Given the description of an element on the screen output the (x, y) to click on. 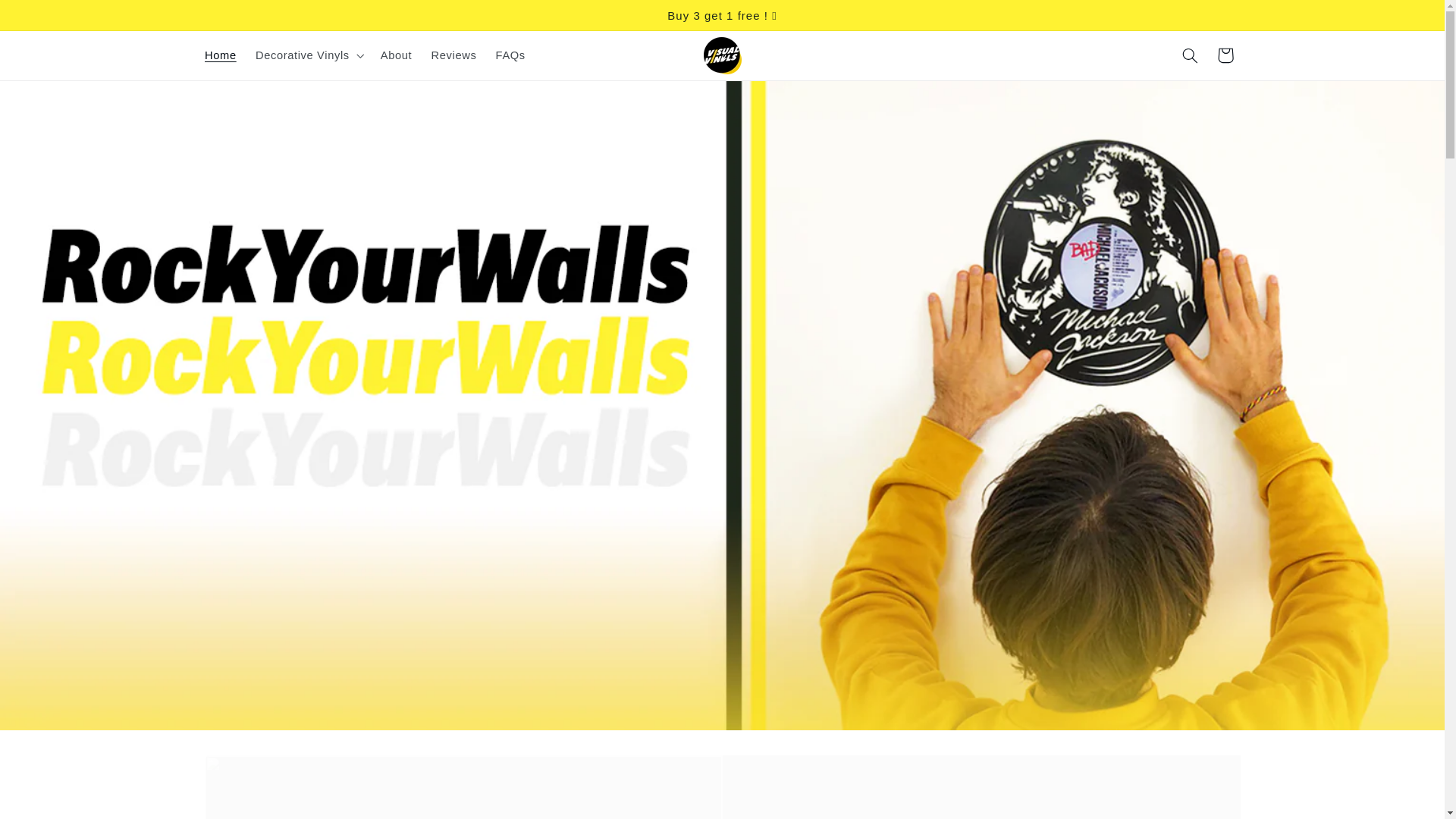
About (396, 55)
FAQs (510, 55)
Skip to content (48, 18)
Home (220, 55)
Cart (1225, 54)
Reviews (454, 55)
